Given the description of an element on the screen output the (x, y) to click on. 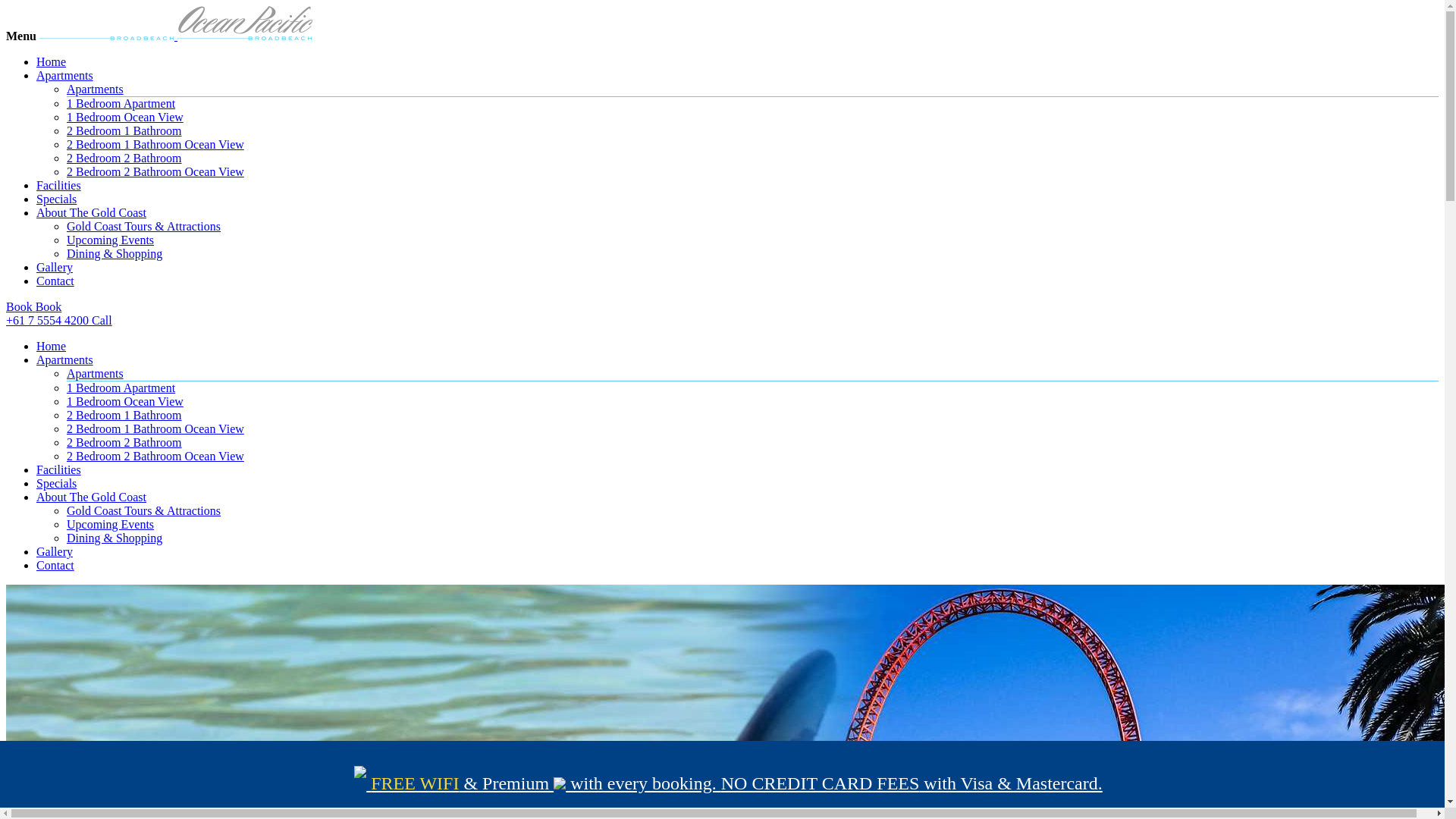
Specials Element type: text (56, 482)
Menu Element type: text (21, 35)
Home Element type: text (50, 61)
Apartments Element type: text (94, 88)
Book Book Element type: text (722, 306)
Home Element type: text (50, 345)
Specials Element type: text (56, 198)
1 Bedroom Apartment Element type: text (120, 103)
Gold Coast Tours & Attractions Element type: text (143, 510)
1 Bedroom Ocean View Element type: text (124, 401)
Facilities Element type: text (58, 469)
2 Bedroom 2 Bathroom Ocean View Element type: text (155, 455)
About The Gold Coast Element type: text (91, 496)
Apartments Element type: text (64, 359)
Apartments Element type: text (64, 75)
Dining & Shopping Element type: text (114, 253)
2 Bedroom 1 Bathroom Element type: text (124, 130)
About The Gold Coast Element type: text (91, 212)
1 Bedroom Apartment Element type: text (120, 387)
2 Bedroom 2 Bathroom Ocean View Element type: text (155, 171)
Contact Element type: text (55, 564)
2 Bedroom 2 Bathroom Element type: text (124, 157)
Contact Element type: text (55, 280)
2 Bedroom 1 Bathroom Ocean View Element type: text (155, 428)
Gallery Element type: text (54, 266)
+61 7 5554 4200 Call Element type: text (722, 320)
2 Bedroom 1 Bathroom Ocean View Element type: text (155, 144)
Apartments Element type: text (94, 373)
Upcoming Events Element type: text (109, 239)
Gallery Element type: text (54, 551)
2 Bedroom 1 Bathroom Element type: text (124, 414)
2 Bedroom 2 Bathroom Element type: text (124, 442)
Dining & Shopping Element type: text (114, 537)
Gold Coast Tours & Attractions Element type: text (143, 225)
Upcoming Events Element type: text (109, 523)
Facilities Element type: text (58, 184)
1 Bedroom Ocean View Element type: text (124, 116)
